Given the description of an element on the screen output the (x, y) to click on. 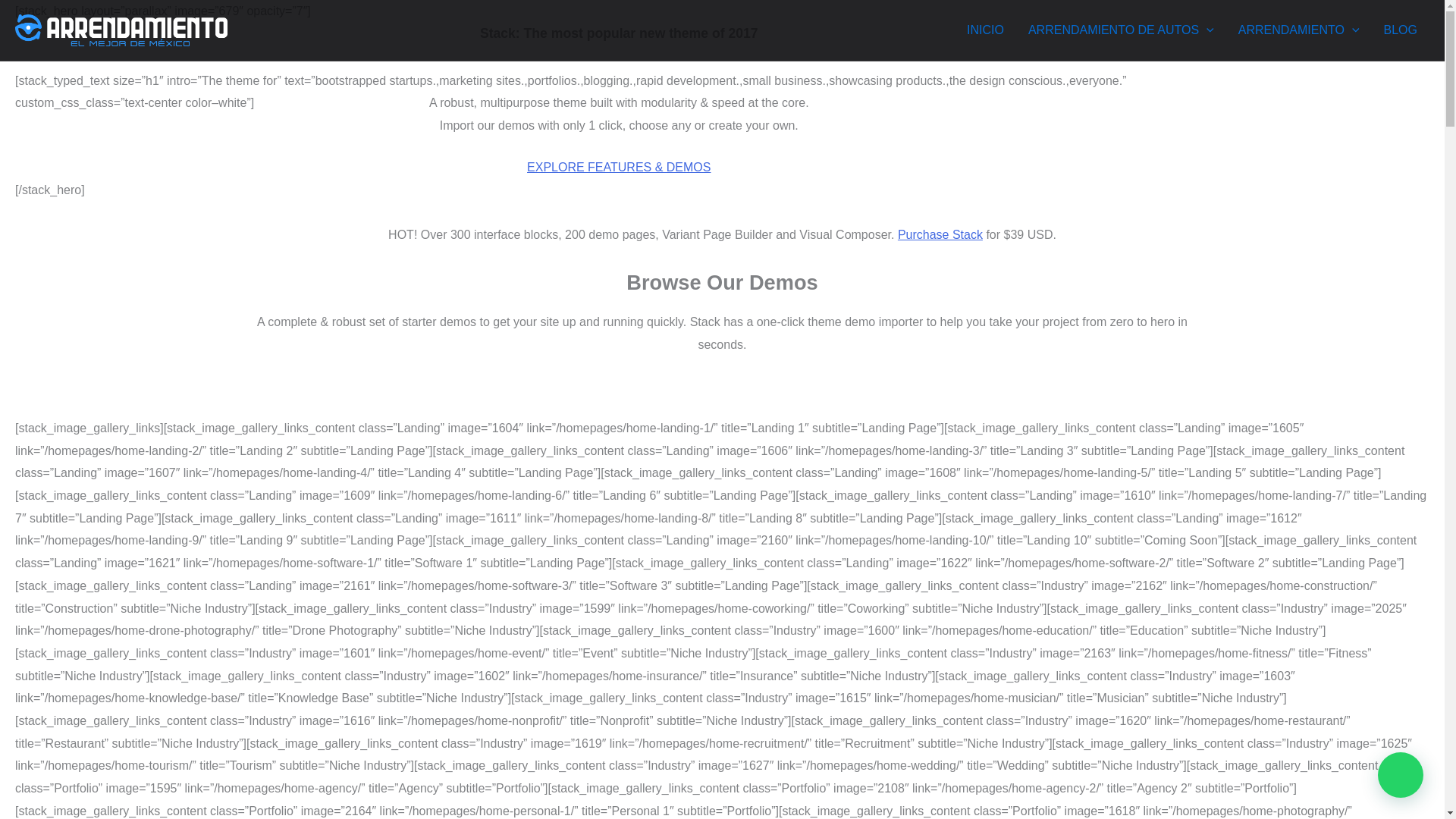
INICIO (985, 30)
ARRENDAMIENTO (1298, 30)
ARRENDAMIENTO DE AUTOS (1120, 30)
BLOG (1400, 30)
